Given the description of an element on the screen output the (x, y) to click on. 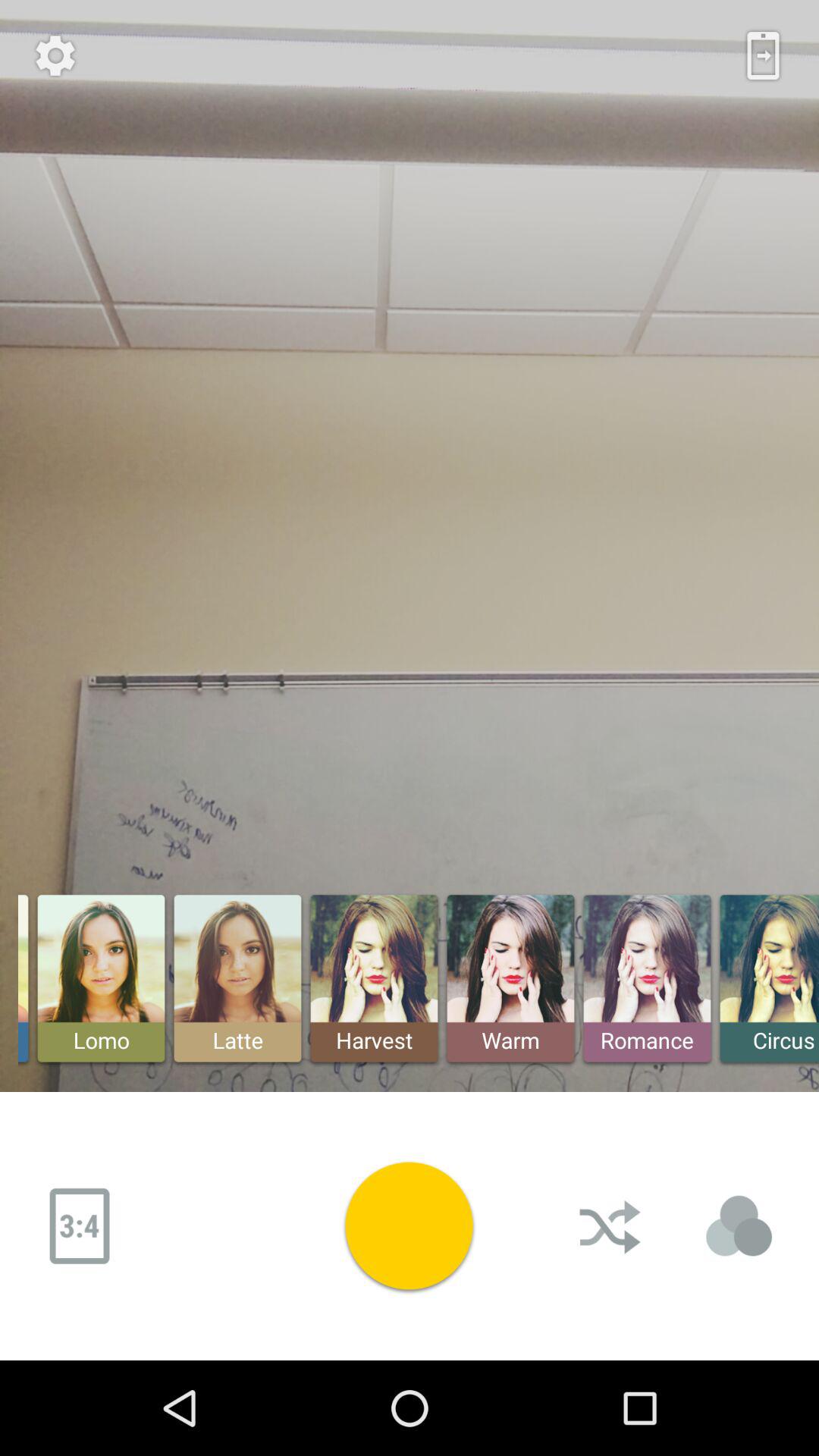
select the cursh button (611, 1226)
